Given the description of an element on the screen output the (x, y) to click on. 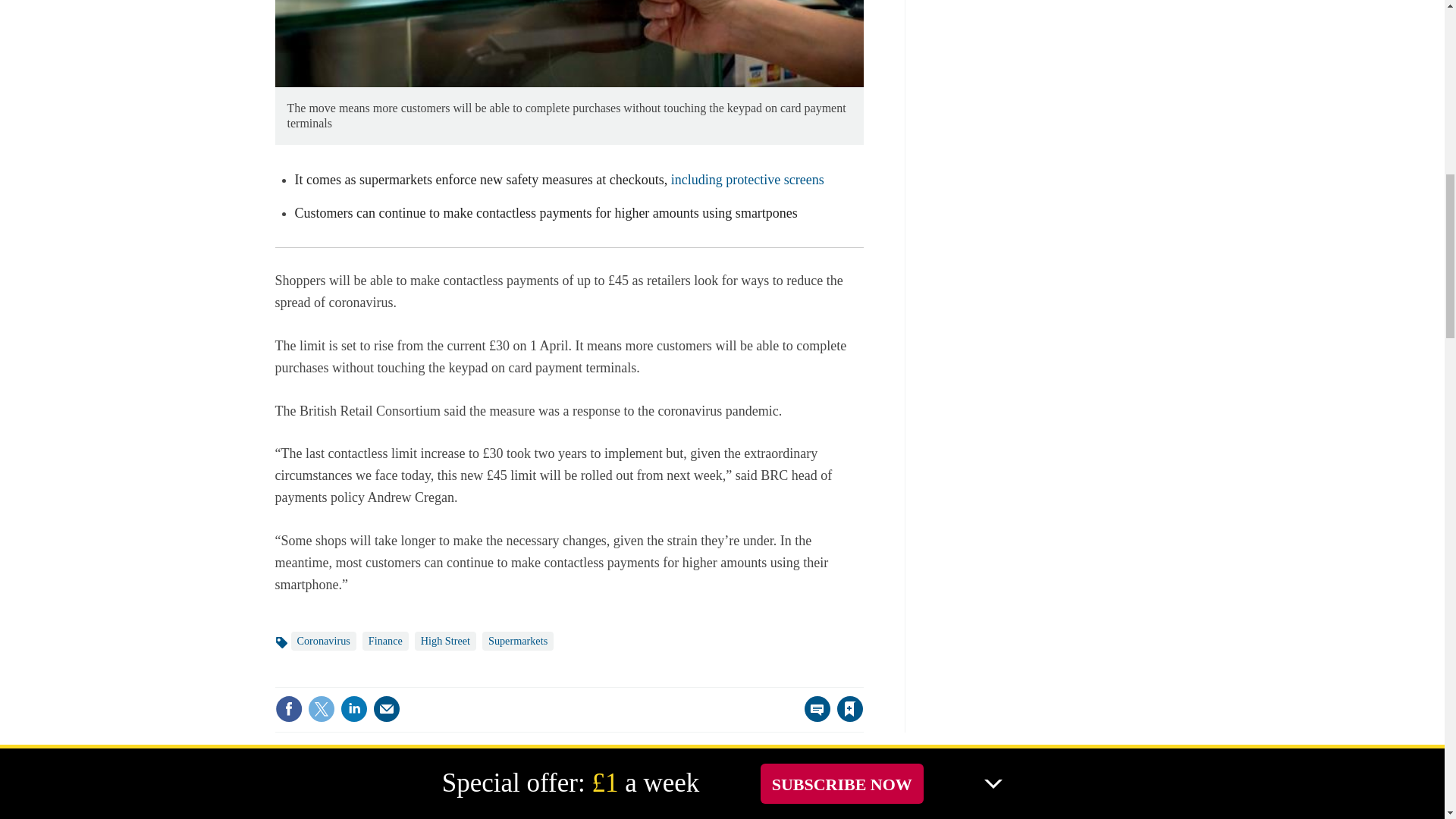
No comments (812, 717)
Email this article (386, 708)
Share this on Facebook (288, 708)
Share this on Twitter (320, 708)
Share this on Linked in (352, 708)
